Given the description of an element on the screen output the (x, y) to click on. 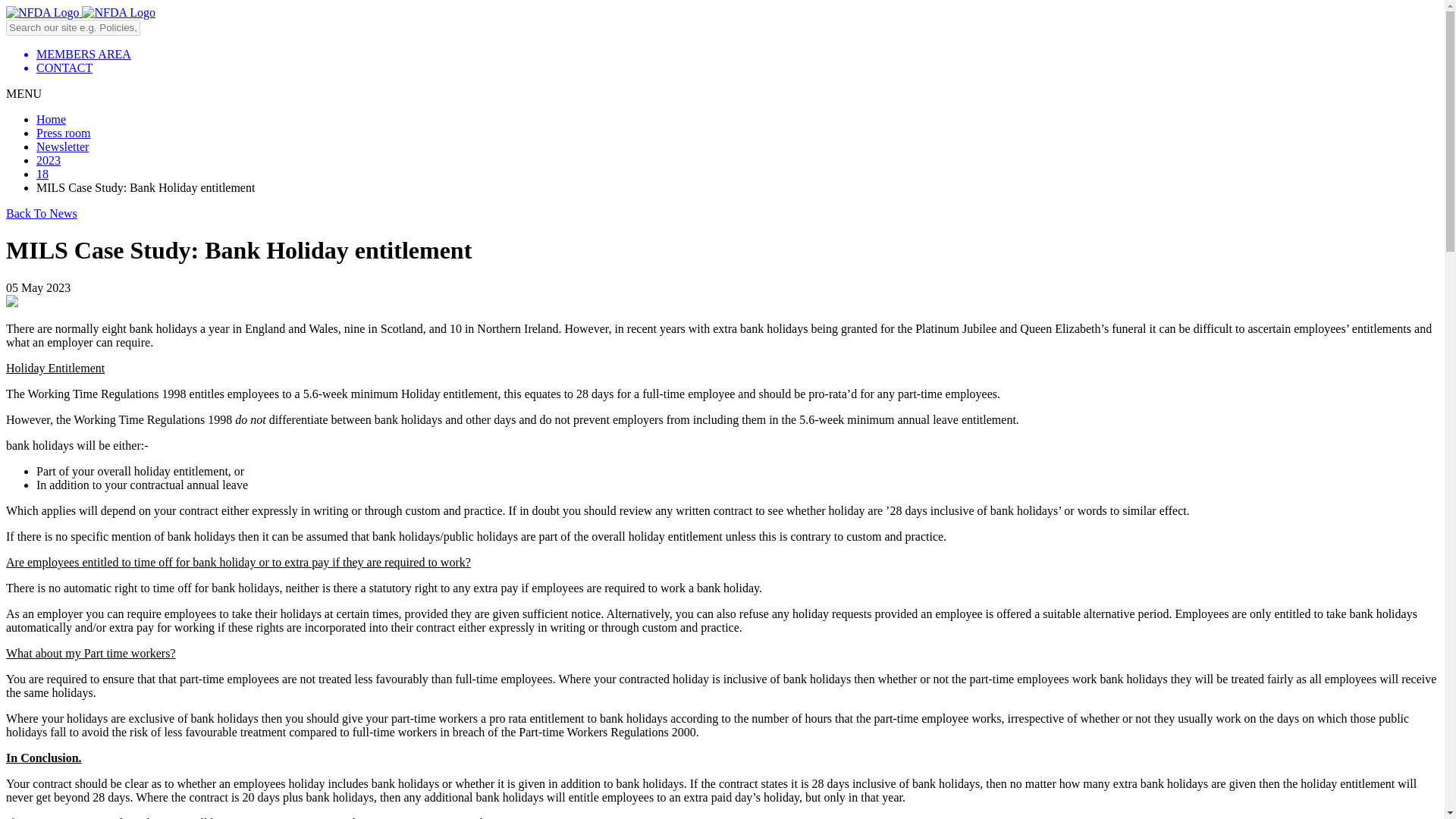
2023 (48, 160)
Press room (63, 132)
Home (50, 119)
Newsletter (62, 146)
18 (42, 173)
Back To News (41, 213)
